Given the description of an element on the screen output the (x, y) to click on. 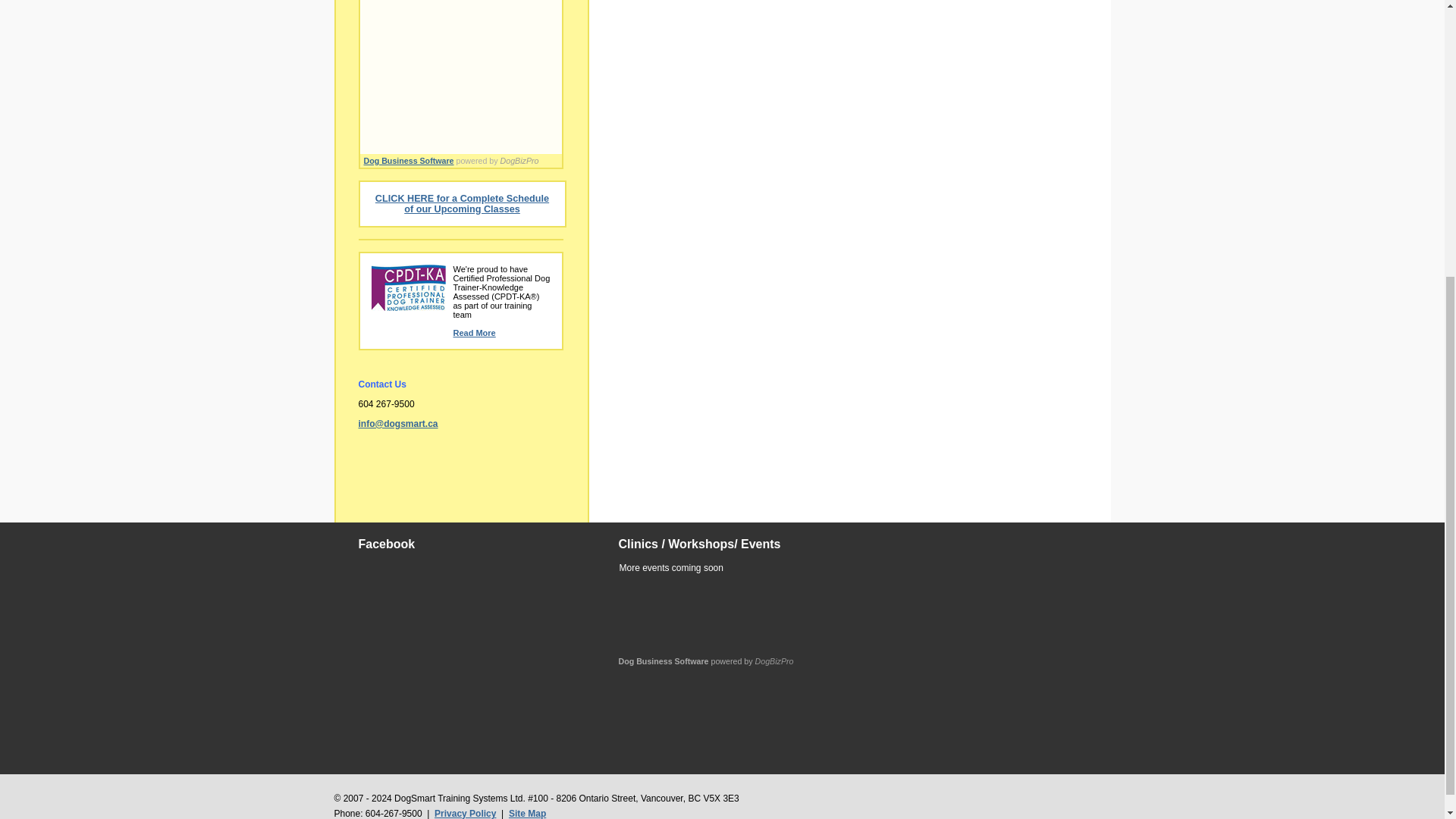
Read More (474, 332)
CLICK HERE for a Complete Schedule of our Upcoming Classes (462, 203)
Dog Business Software (409, 160)
Dog Business Software (663, 660)
